Given the description of an element on the screen output the (x, y) to click on. 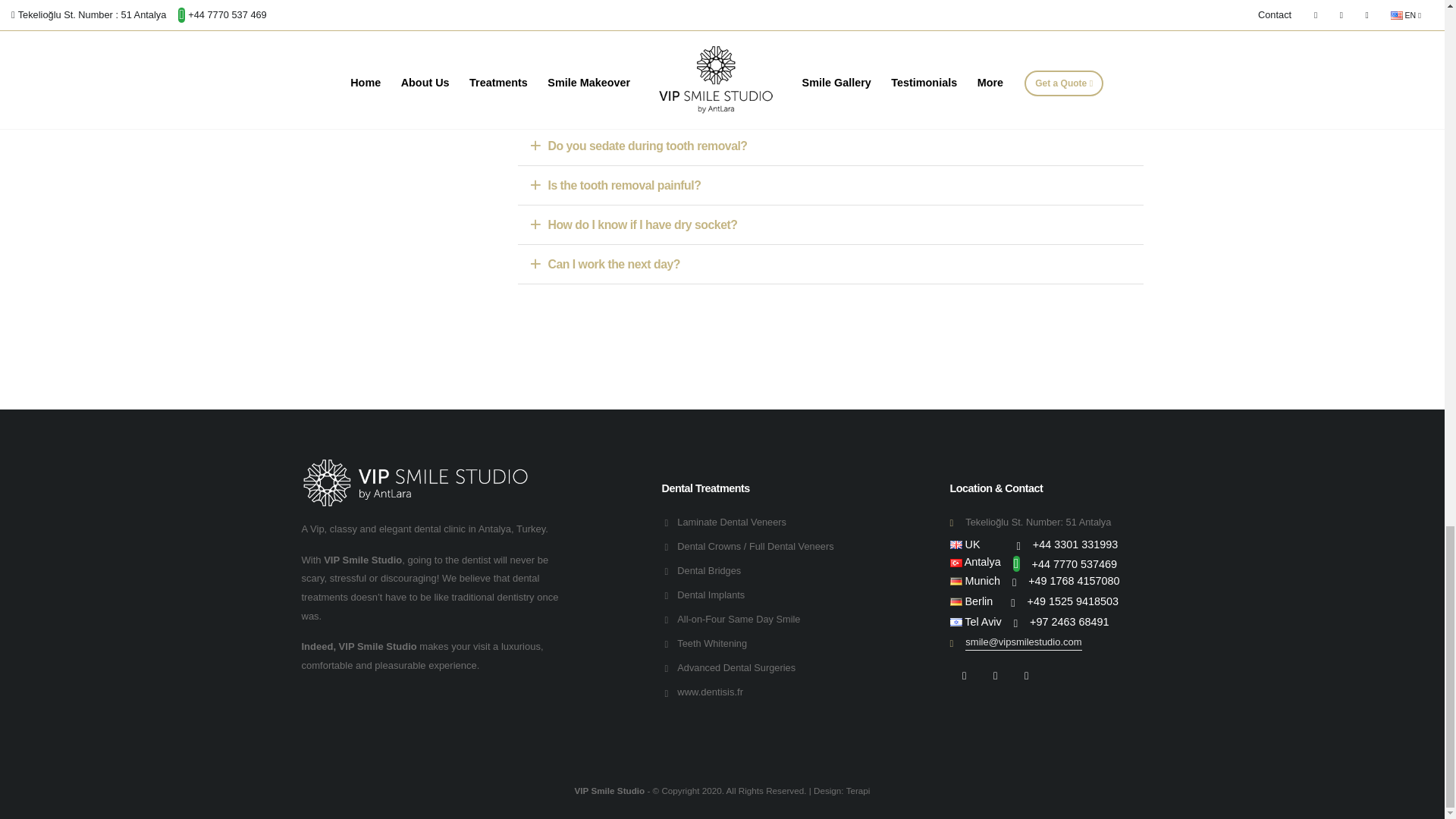
Facebook (963, 675)
Call Us Now (1075, 544)
Call Us Now (1072, 601)
Instragram (994, 675)
Call Us Now (1073, 580)
Youtube (1026, 675)
Call Us Now (1068, 621)
